Given the description of an element on the screen output the (x, y) to click on. 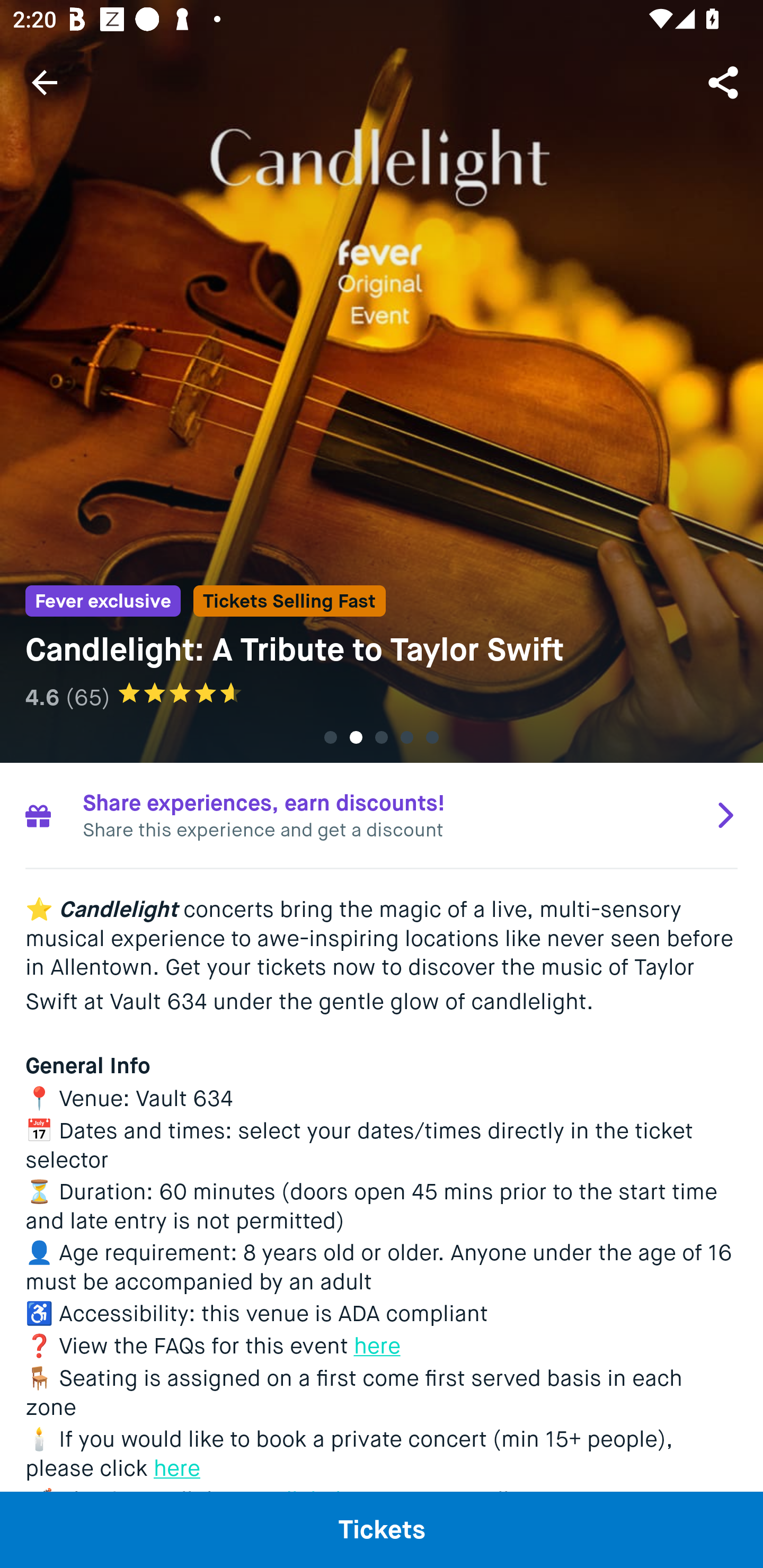
Navigate up (44, 82)
Share (724, 81)
(65) (87, 697)
Tickets (381, 1529)
